Given the description of an element on the screen output the (x, y) to click on. 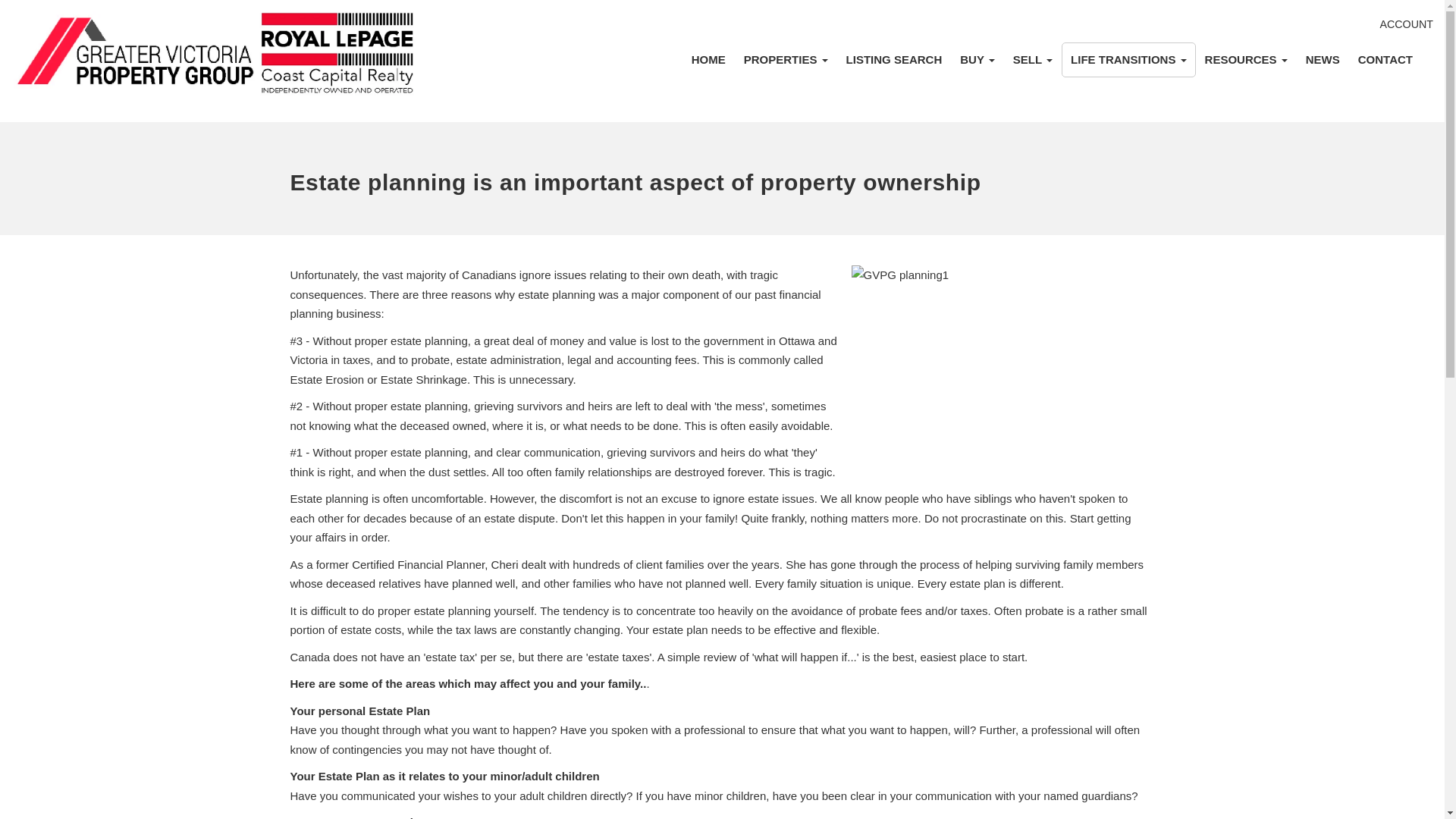
LIFE TRANSITIONS (1128, 59)
PROPERTIES (786, 59)
CONTACT (1385, 59)
HOME (708, 59)
RESOURCES (1246, 59)
BUY (977, 59)
LISTING SEARCH (894, 59)
NEWS (1323, 59)
ACCOUNT (1406, 24)
SELL (1032, 59)
